Given the description of an element on the screen output the (x, y) to click on. 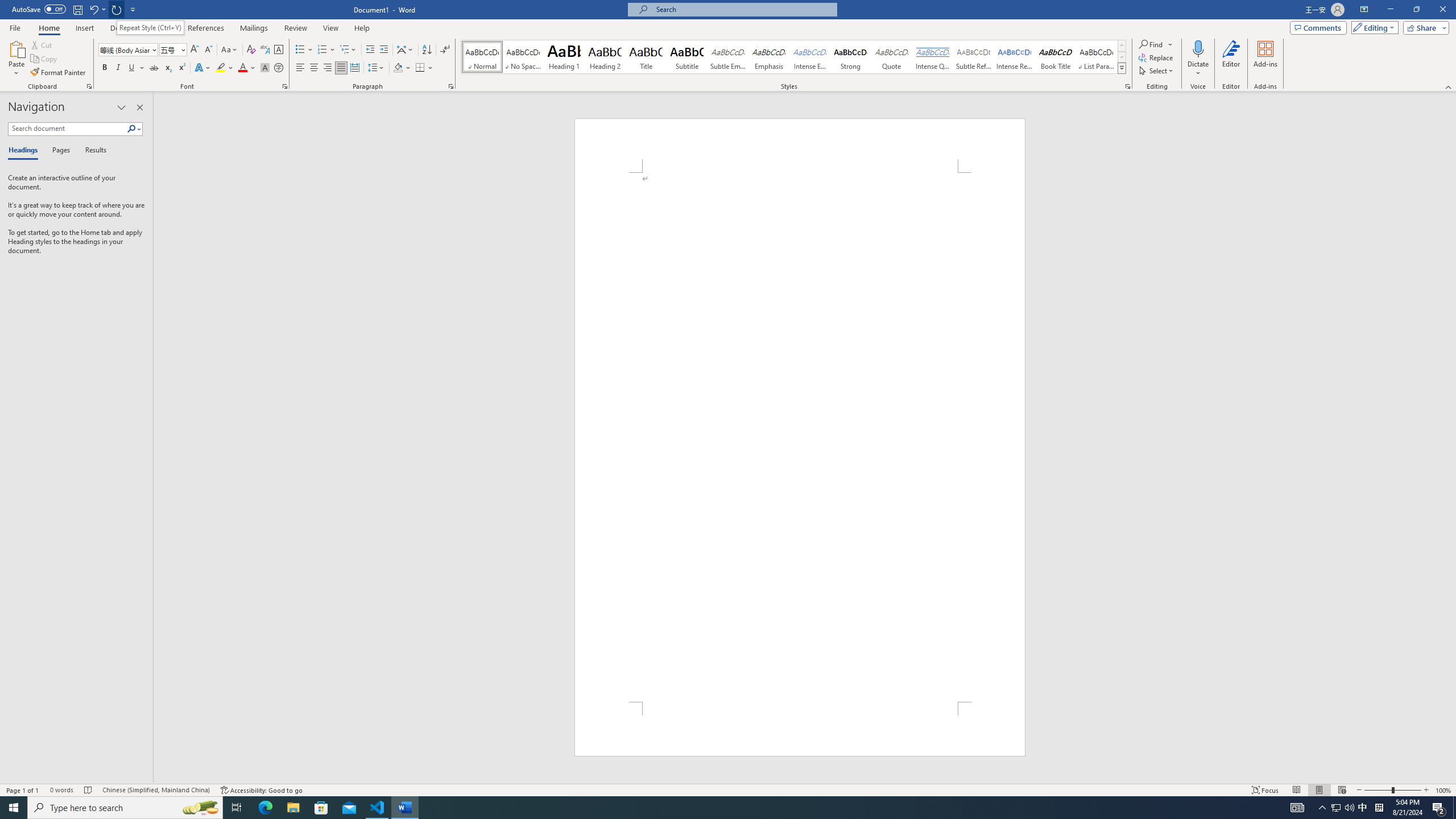
Headings (25, 150)
Class: MsoCommandBar (728, 789)
More Options (1197, 68)
Shrink Font (208, 49)
Font Color Red (241, 67)
Class: NetUIImage (1121, 68)
Undo Style (96, 9)
Numbering (326, 49)
Zoom 100% (1443, 790)
Intense Quote (932, 56)
Increase Indent (383, 49)
AutoSave (38, 9)
Underline (136, 67)
Underline (131, 67)
